Given the description of an element on the screen output the (x, y) to click on. 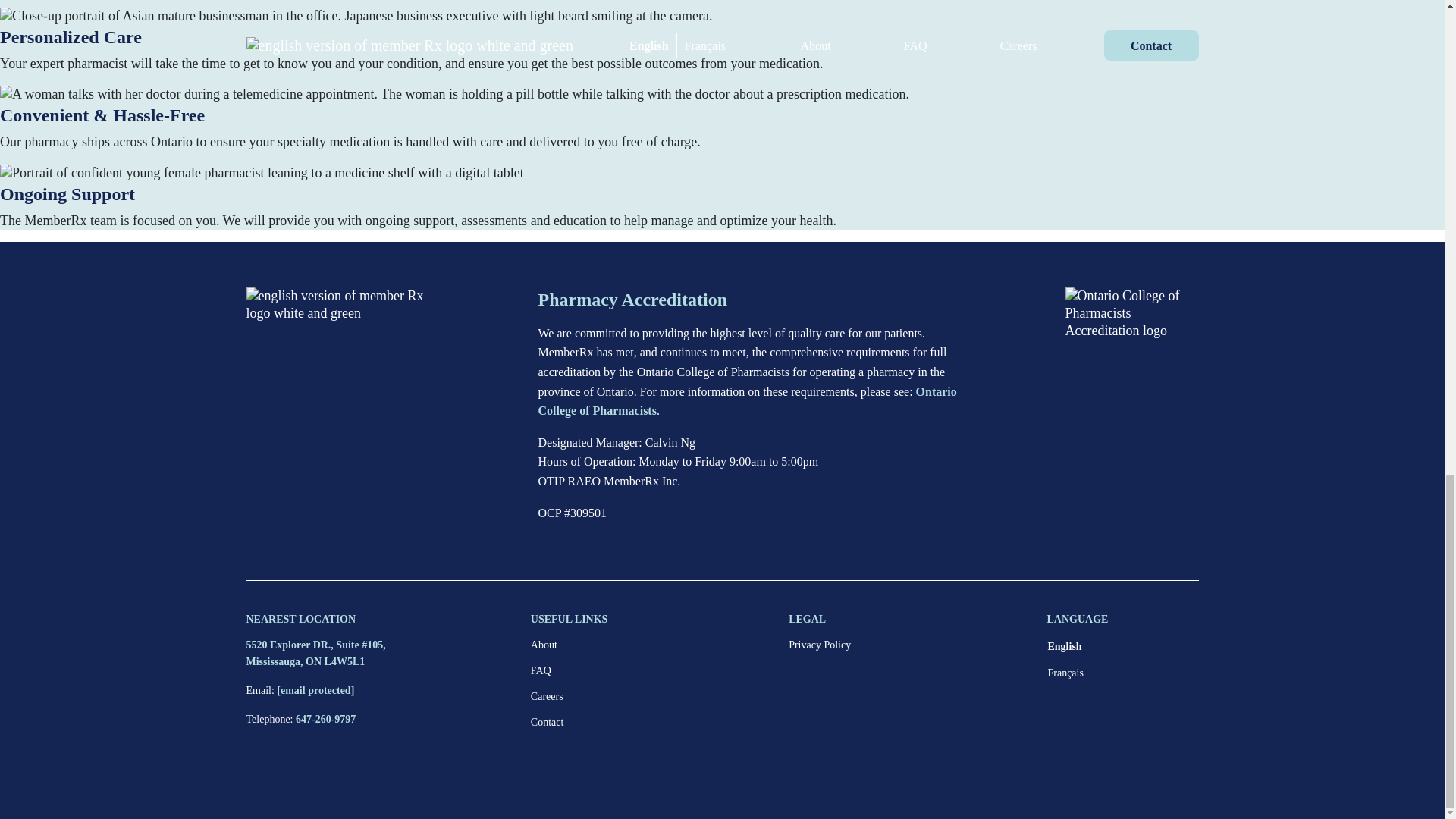
About (544, 644)
647-260-9797 (325, 718)
FAQ (541, 670)
Contact (547, 722)
Careers (547, 696)
Privacy Policy (819, 644)
Ontario College of Pharmacists (747, 400)
English (1121, 646)
